Given the description of an element on the screen output the (x, y) to click on. 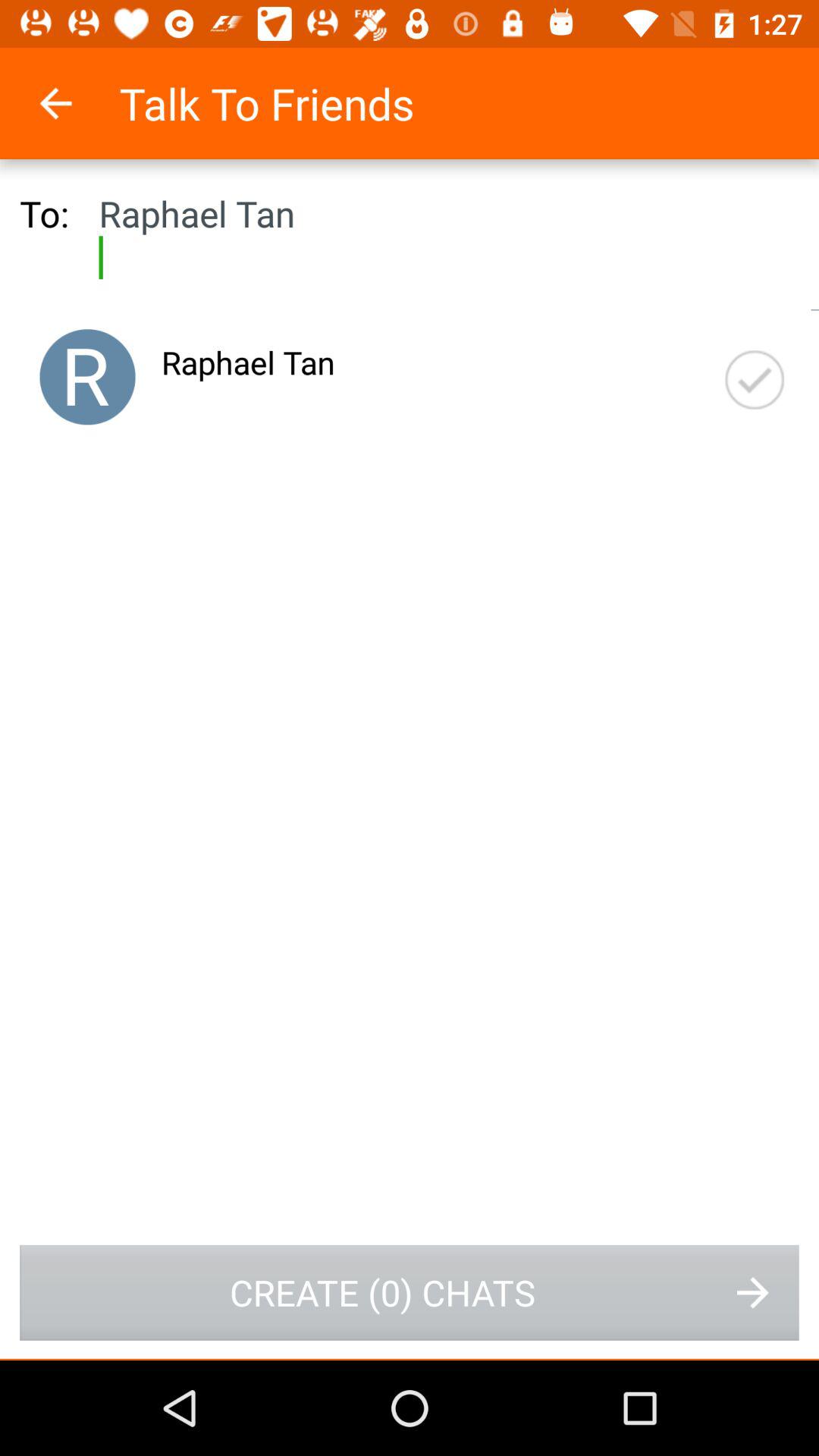
choose icon to the right of the raphael tan
 item (754, 380)
